Given the description of an element on the screen output the (x, y) to click on. 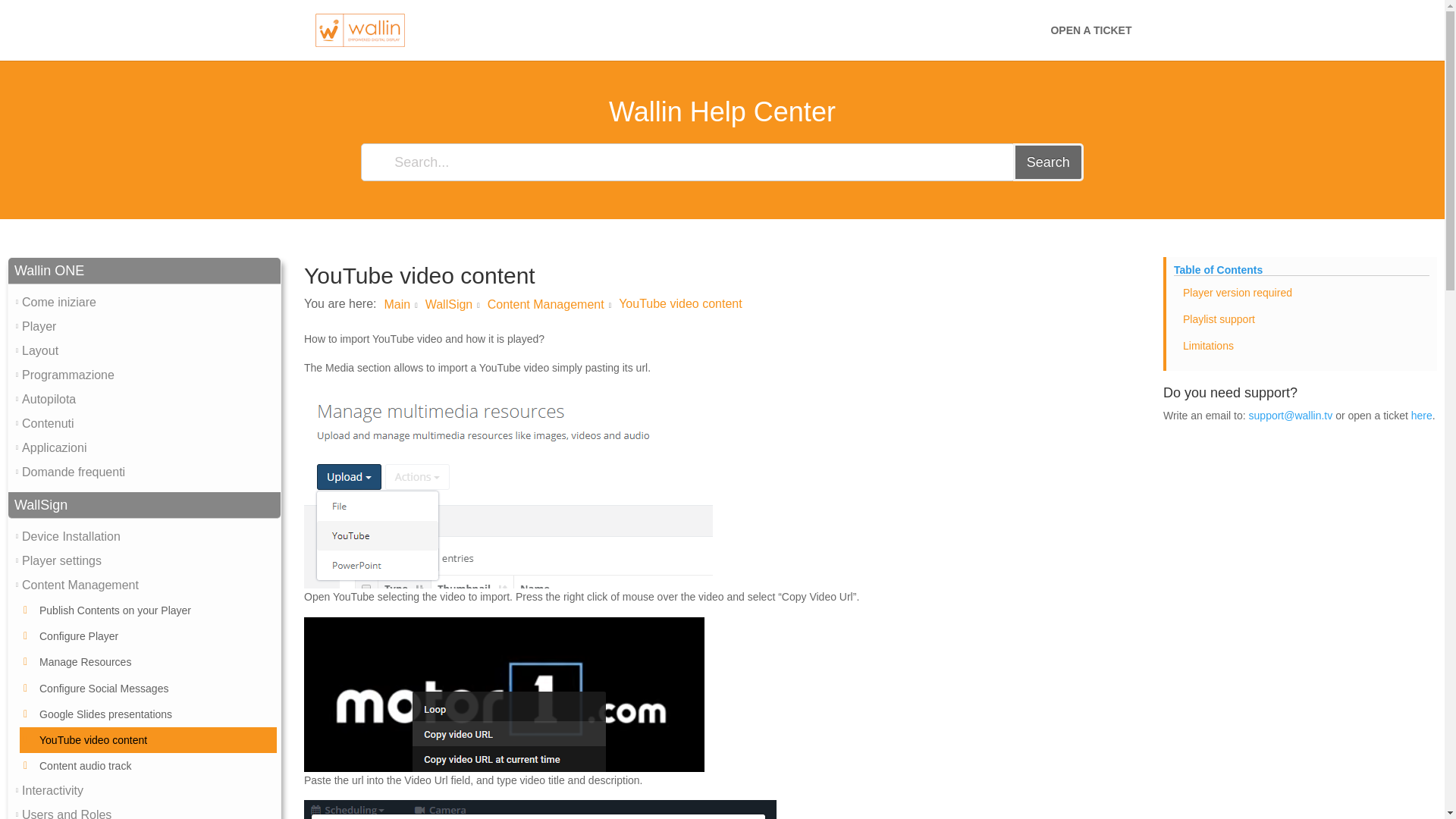
Layout (39, 350)
Player (38, 326)
Autopilota (48, 399)
Come iniziare (58, 302)
OPEN A TICKET (1090, 42)
Applicazioni (53, 448)
Contenuti (47, 423)
Search (1048, 161)
Programmazione (68, 375)
